Given the description of an element on the screen output the (x, y) to click on. 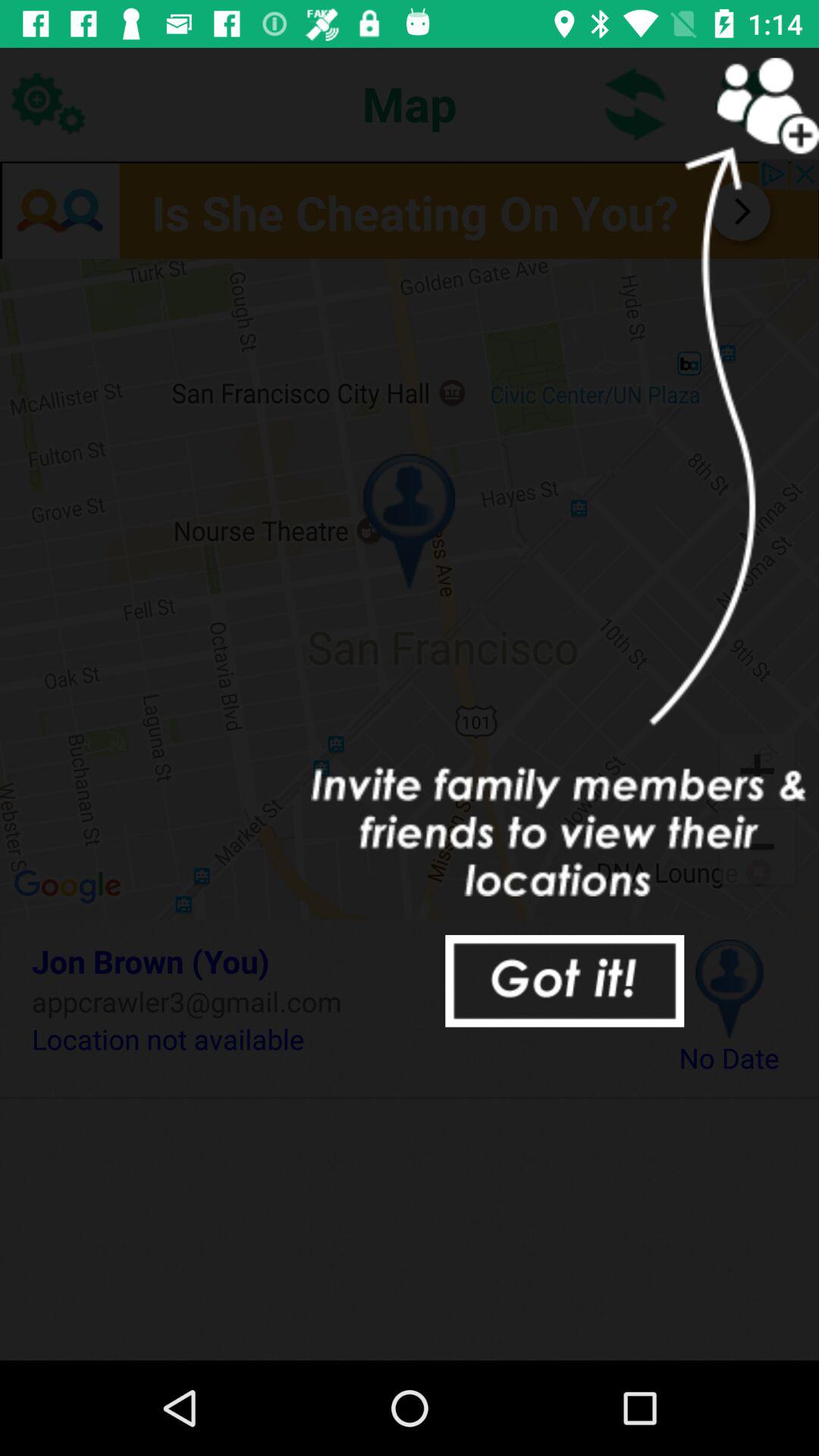
refresh the search (635, 103)
